Given the description of an element on the screen output the (x, y) to click on. 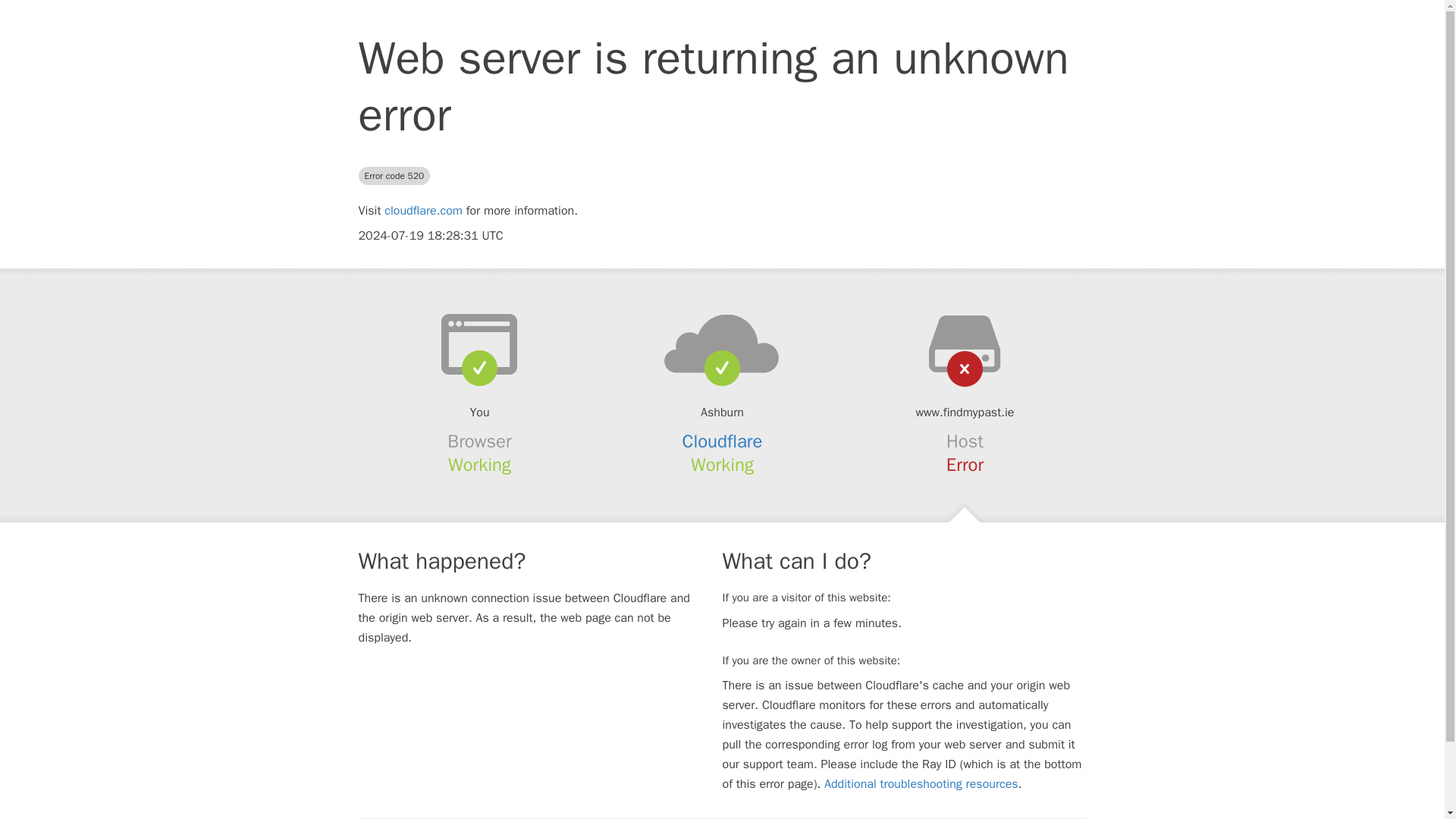
Additional troubleshooting resources (920, 783)
cloudflare.com (423, 210)
Cloudflare (722, 440)
